Given the description of an element on the screen output the (x, y) to click on. 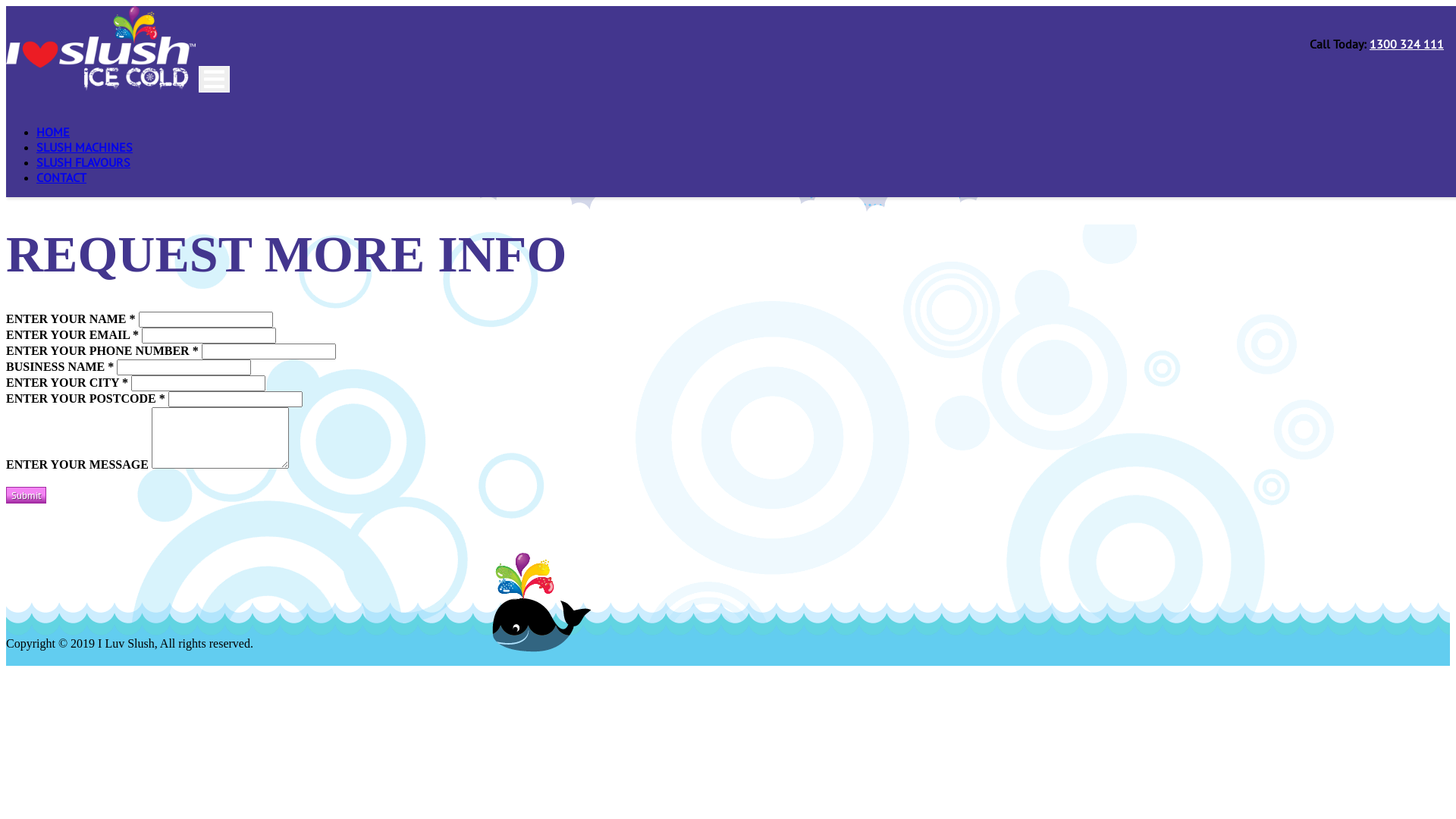
CONTACT Element type: text (61, 177)
Submit Element type: text (26, 494)
SLUSH FLAVOURS Element type: text (83, 161)
1300 324 111 Element type: text (1406, 43)
HOME Element type: text (52, 131)
SLUSH MACHINES Element type: text (84, 146)
